Given the description of an element on the screen output the (x, y) to click on. 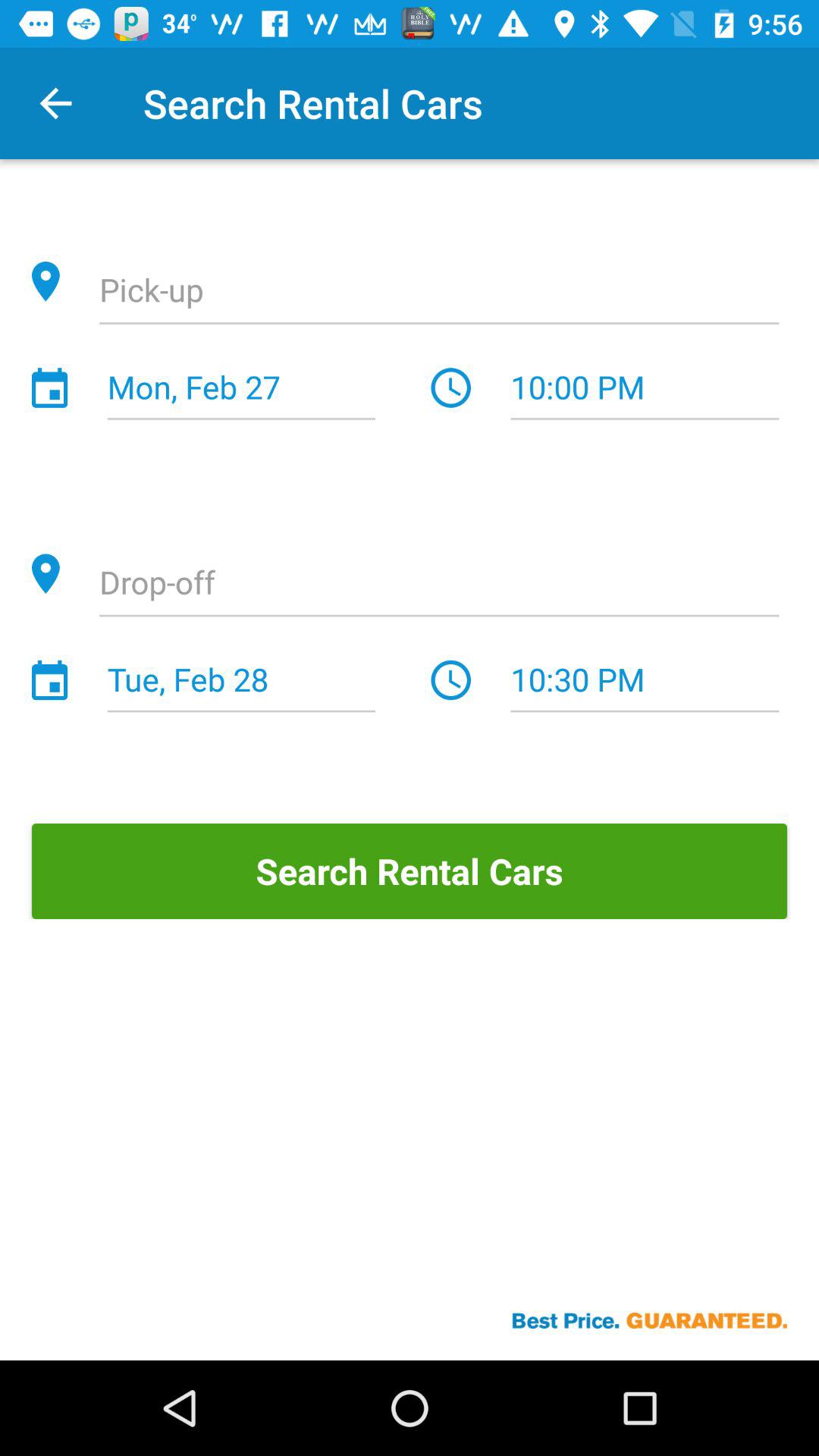
press item to the left of search rental cars icon (55, 103)
